Given the description of an element on the screen output the (x, y) to click on. 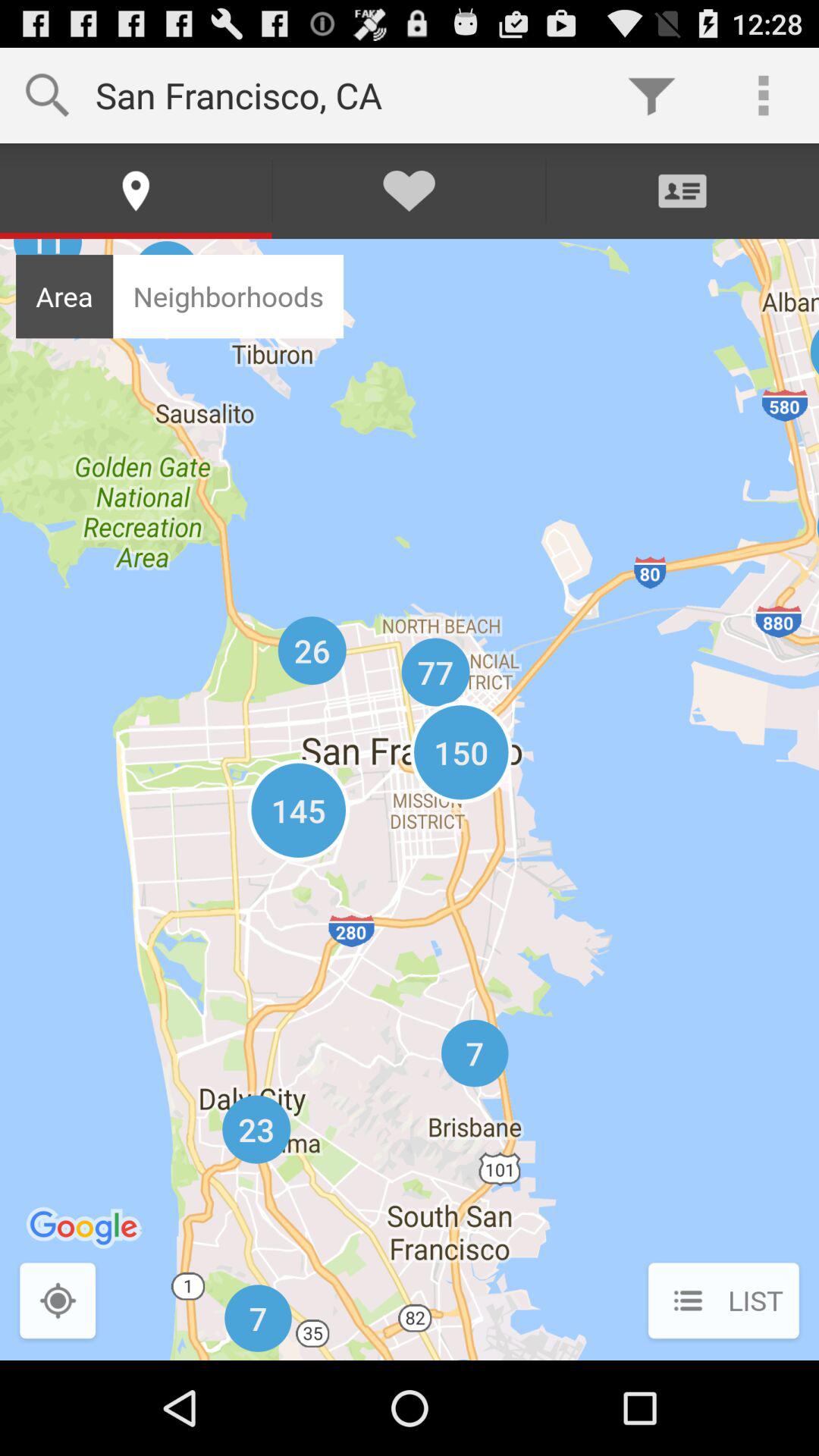
select the item next to the area (228, 296)
